Given the description of an element on the screen output the (x, y) to click on. 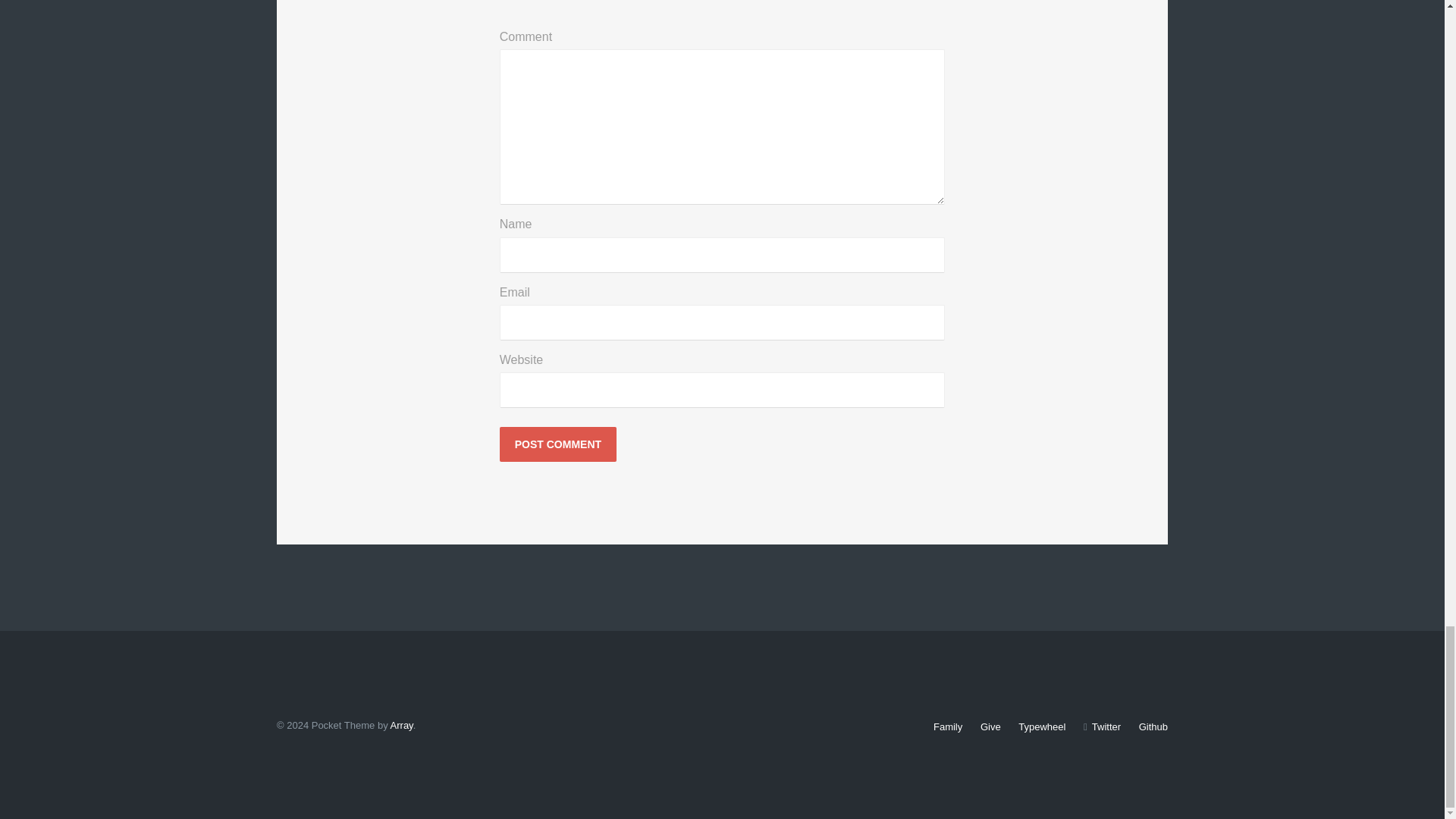
Post Comment (557, 443)
Array (401, 725)
Twitter (1102, 726)
Post Comment (557, 443)
Github (1152, 726)
Give (990, 726)
Family (947, 726)
Typewheel (1041, 726)
